Given the description of an element on the screen output the (x, y) to click on. 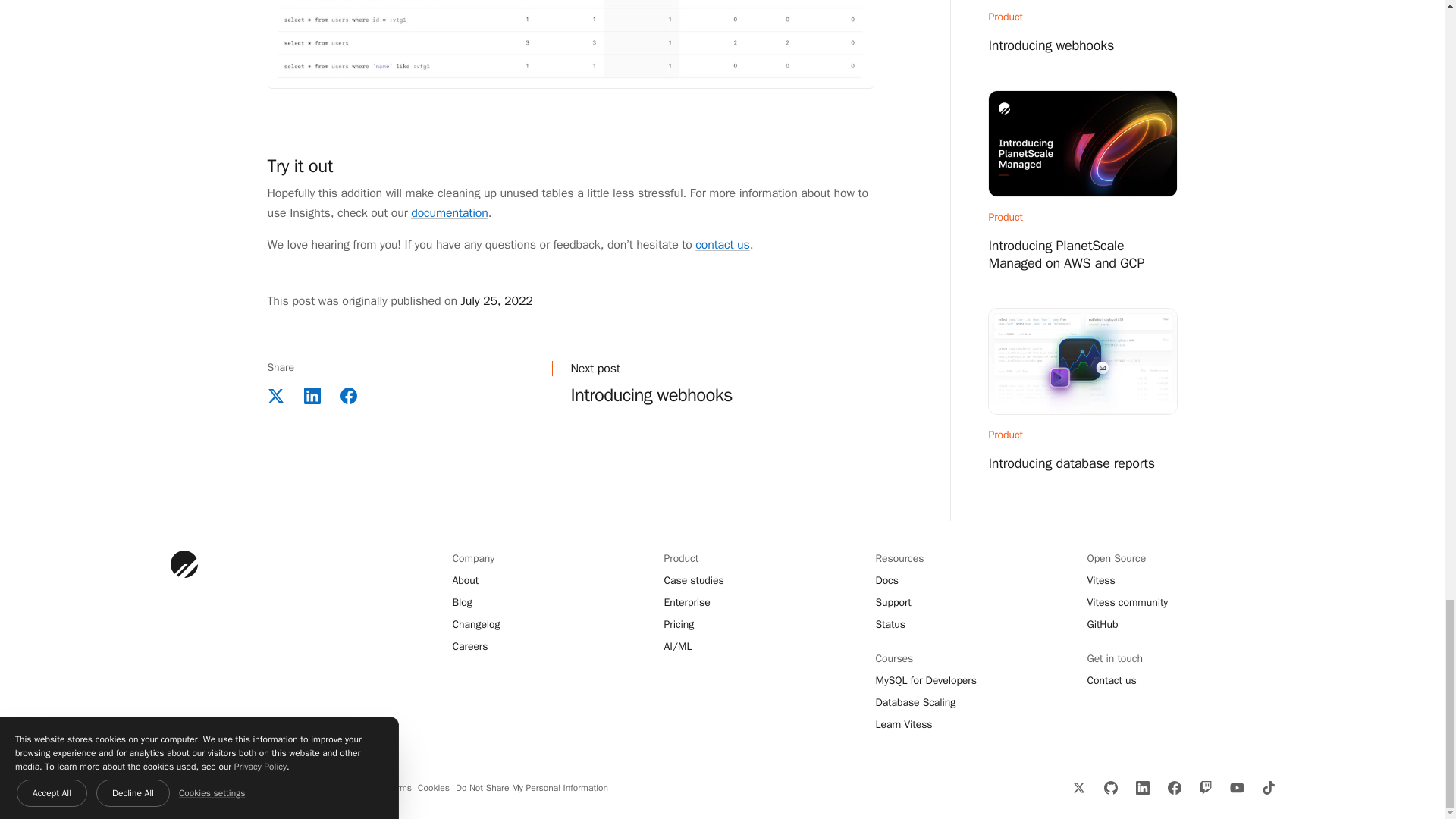
Try it out (299, 165)
